Given the description of an element on the screen output the (x, y) to click on. 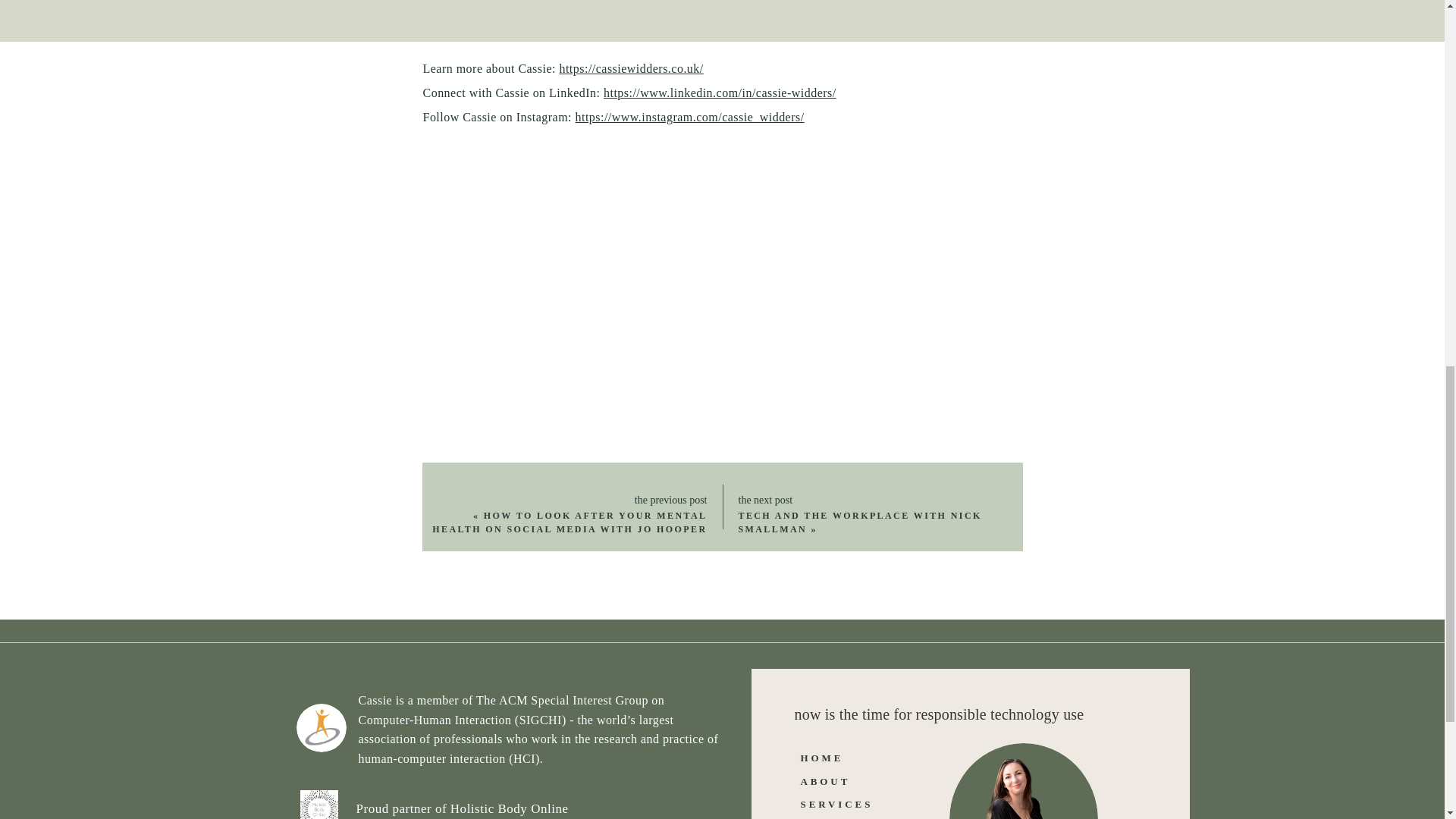
SERVICES (858, 804)
ABOUT (844, 781)
TECH AND THE WORKPLACE WITH NICK SMALLMAN (859, 522)
Proud partner of Holistic Body Online (525, 808)
the previous post (647, 499)
HOME (846, 756)
the next post (838, 499)
